Given the description of an element on the screen output the (x, y) to click on. 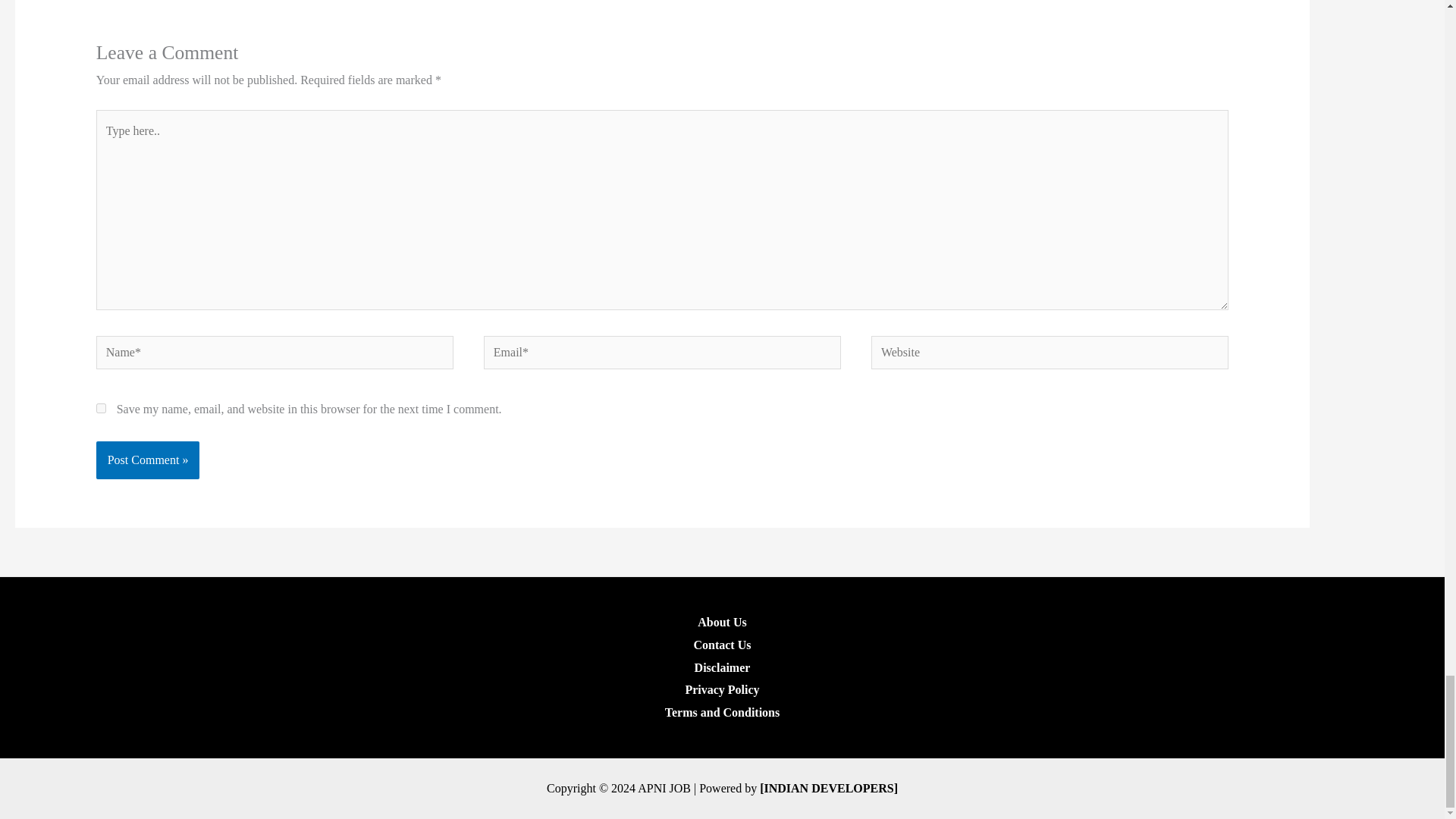
yes (101, 408)
